Given the description of an element on the screen output the (x, y) to click on. 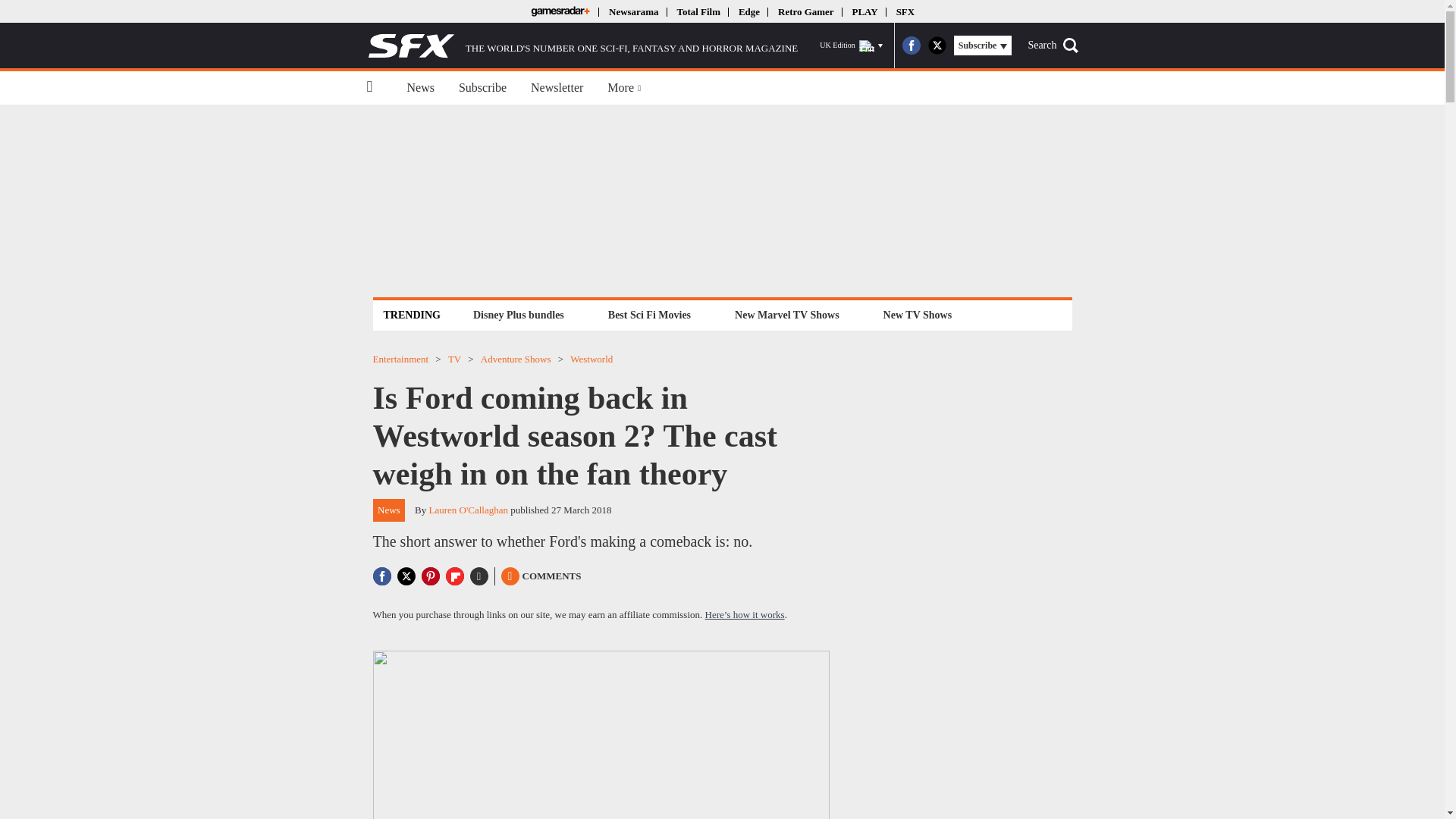
Newsarama (633, 11)
Retro Gamer (805, 11)
PLAY (864, 11)
Disney Plus bundles (518, 314)
Newsletter (556, 87)
UK Edition (850, 45)
THE WORLD'S NUMBER ONE SCI-FI, FANTASY AND HORROR MAGAZINE (581, 44)
Entertainment (400, 358)
New TV Shows (917, 314)
Total Film (698, 11)
News (419, 87)
Subscribe (482, 87)
Best Sci Fi Movies (648, 314)
Edge (749, 11)
New Marvel TV Shows (786, 314)
